Given the description of an element on the screen output the (x, y) to click on. 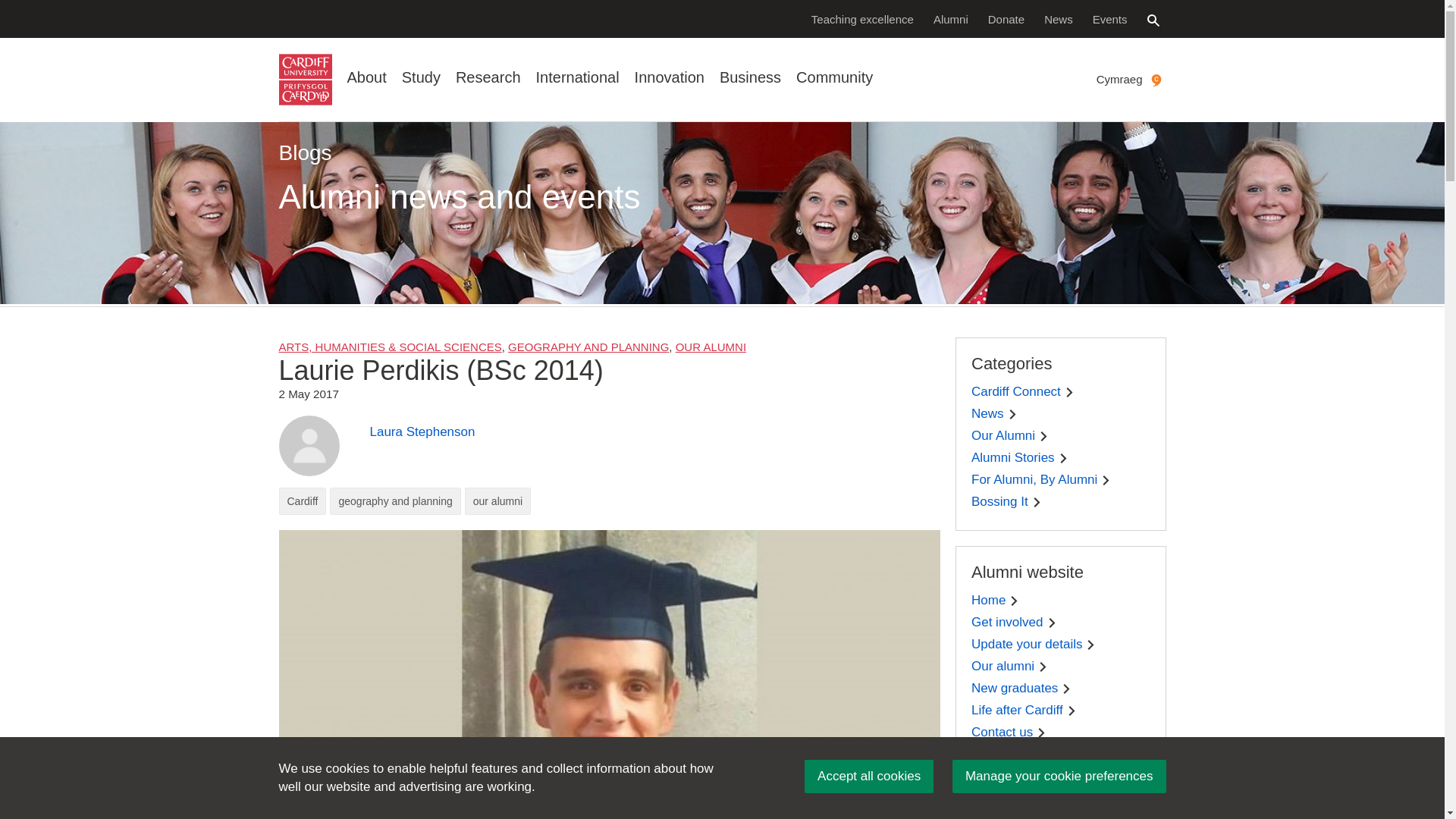
Donate (1005, 19)
View all posts in Our Alumni (710, 346)
Chevron right (1063, 458)
Chevron right (1066, 688)
Chevron right (1012, 414)
Chevron right (1091, 644)
Accept all cookies (869, 776)
Manage your cookie preferences (1059, 776)
Chevron right (1043, 666)
Chevron right (1105, 480)
